Given the description of an element on the screen output the (x, y) to click on. 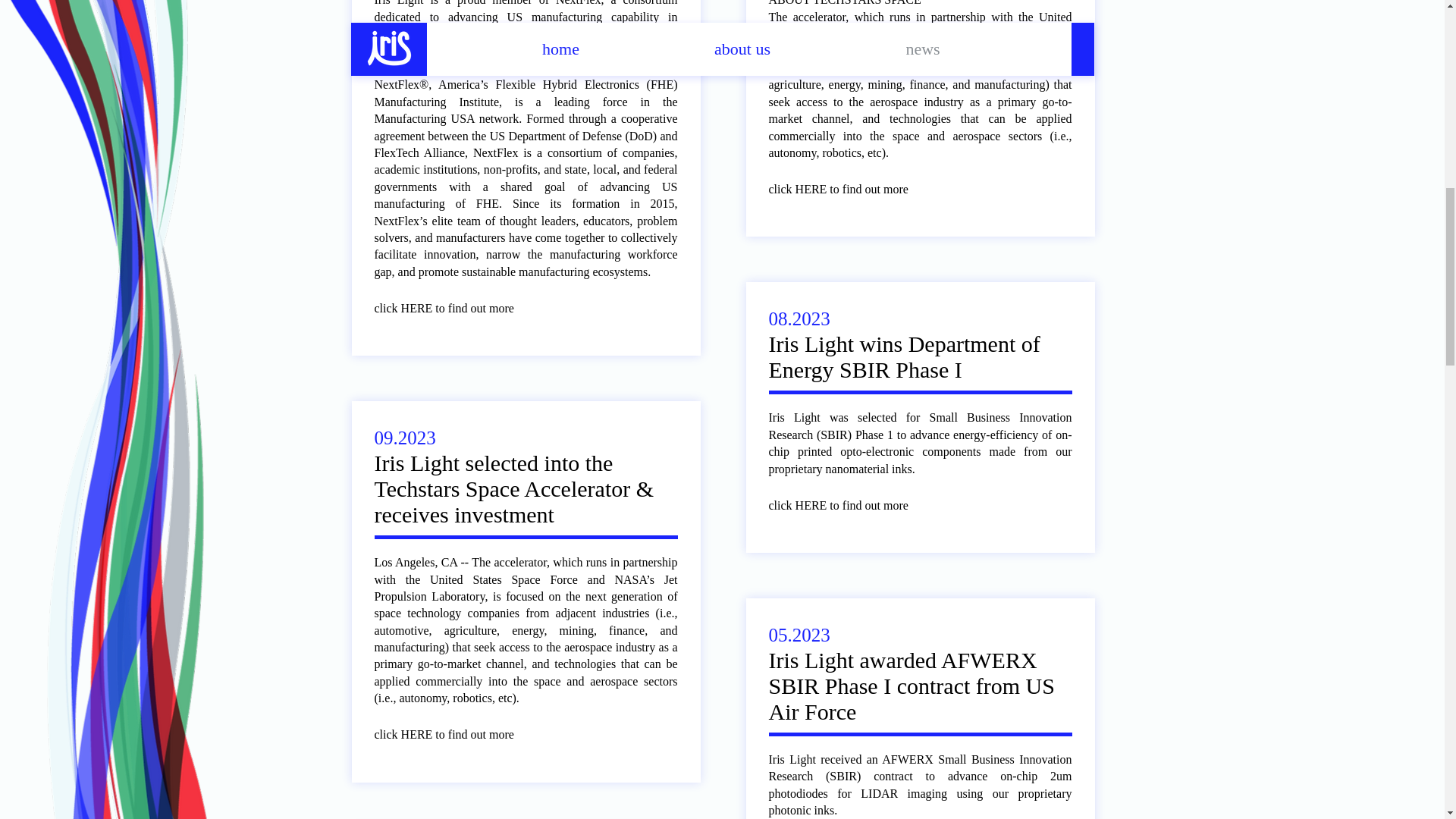
click HERE to find out more (849, 505)
click HERE to find out more (455, 735)
click HERE to find out more (455, 308)
click HERE to find out more (849, 189)
